Given the description of an element on the screen output the (x, y) to click on. 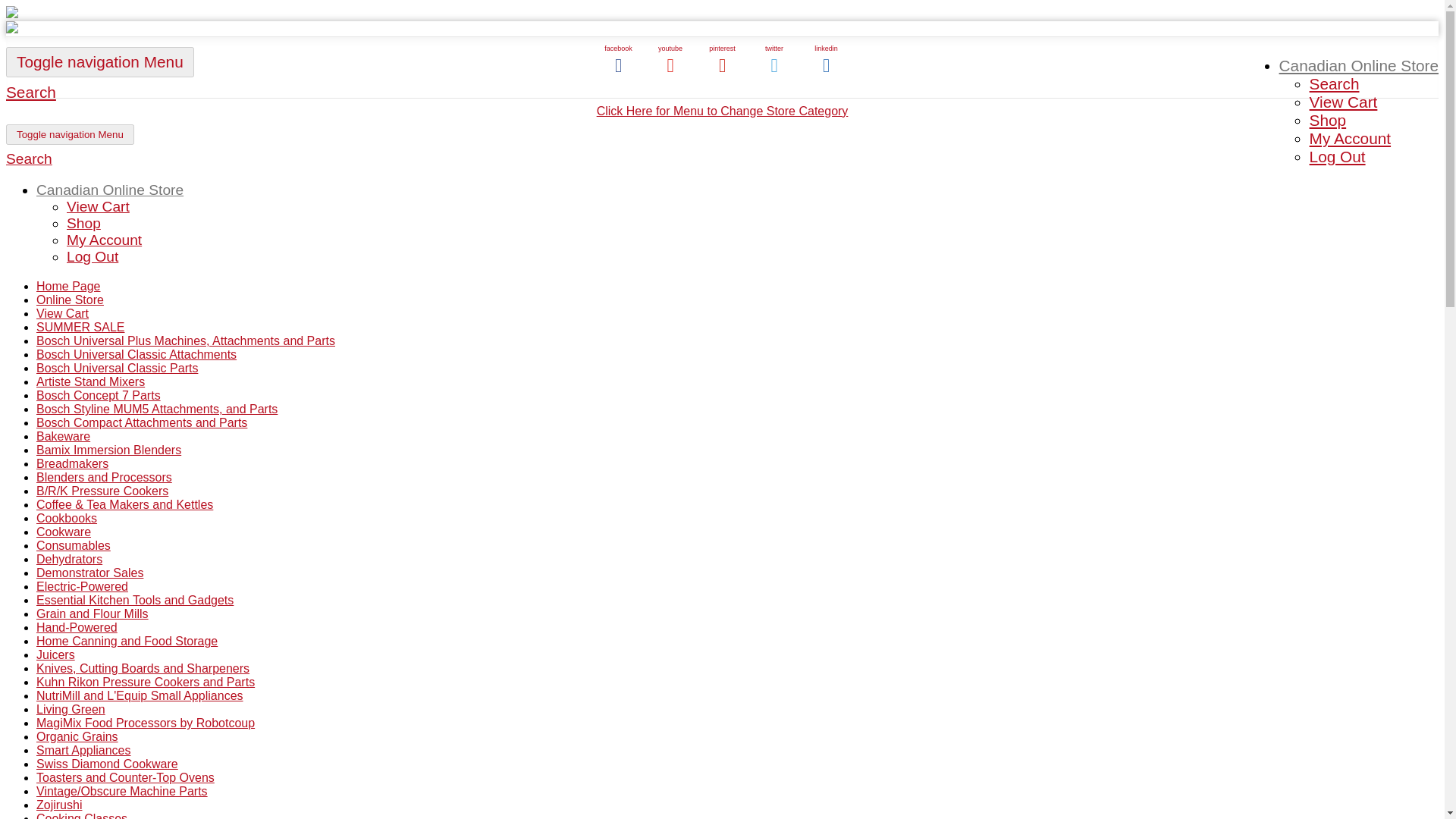
Bosch Compact Attachments and Parts (141, 422)
Breadmakers (71, 463)
linkedin (826, 69)
Search (30, 91)
Click Here for Menu to Change Store Category (722, 110)
Logout (83, 222)
Shop (83, 222)
Home Page (68, 286)
Profile (103, 239)
Bakeware (63, 436)
